Given the description of an element on the screen output the (x, y) to click on. 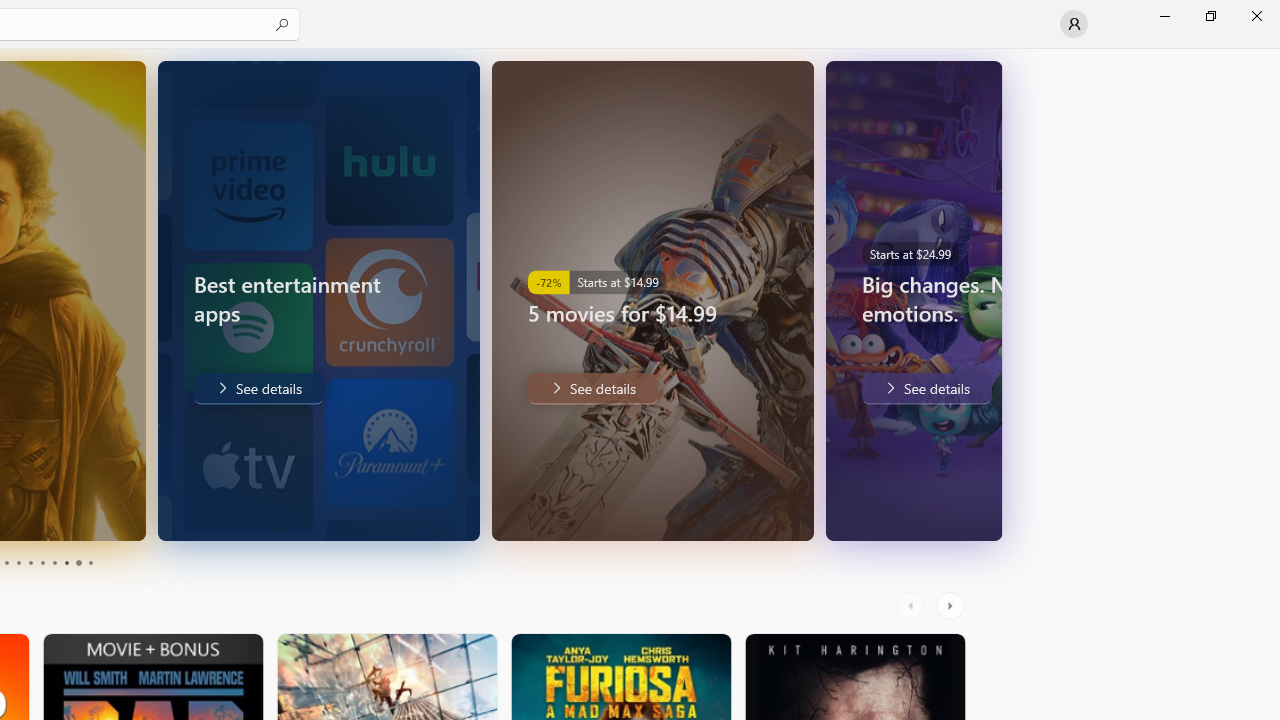
AutomationID: LeftScrollButton (913, 606)
AutomationID: RightScrollButton (952, 606)
Unmute (937, 512)
Play Trailer (897, 512)
Page 4 (17, 562)
Page 3 (5, 562)
Page 9 (77, 562)
Page 6 (41, 562)
Page 8 (65, 562)
Page 7 (54, 562)
Page 5 (29, 562)
AutomationID: Image (989, 300)
